Given the description of an element on the screen output the (x, y) to click on. 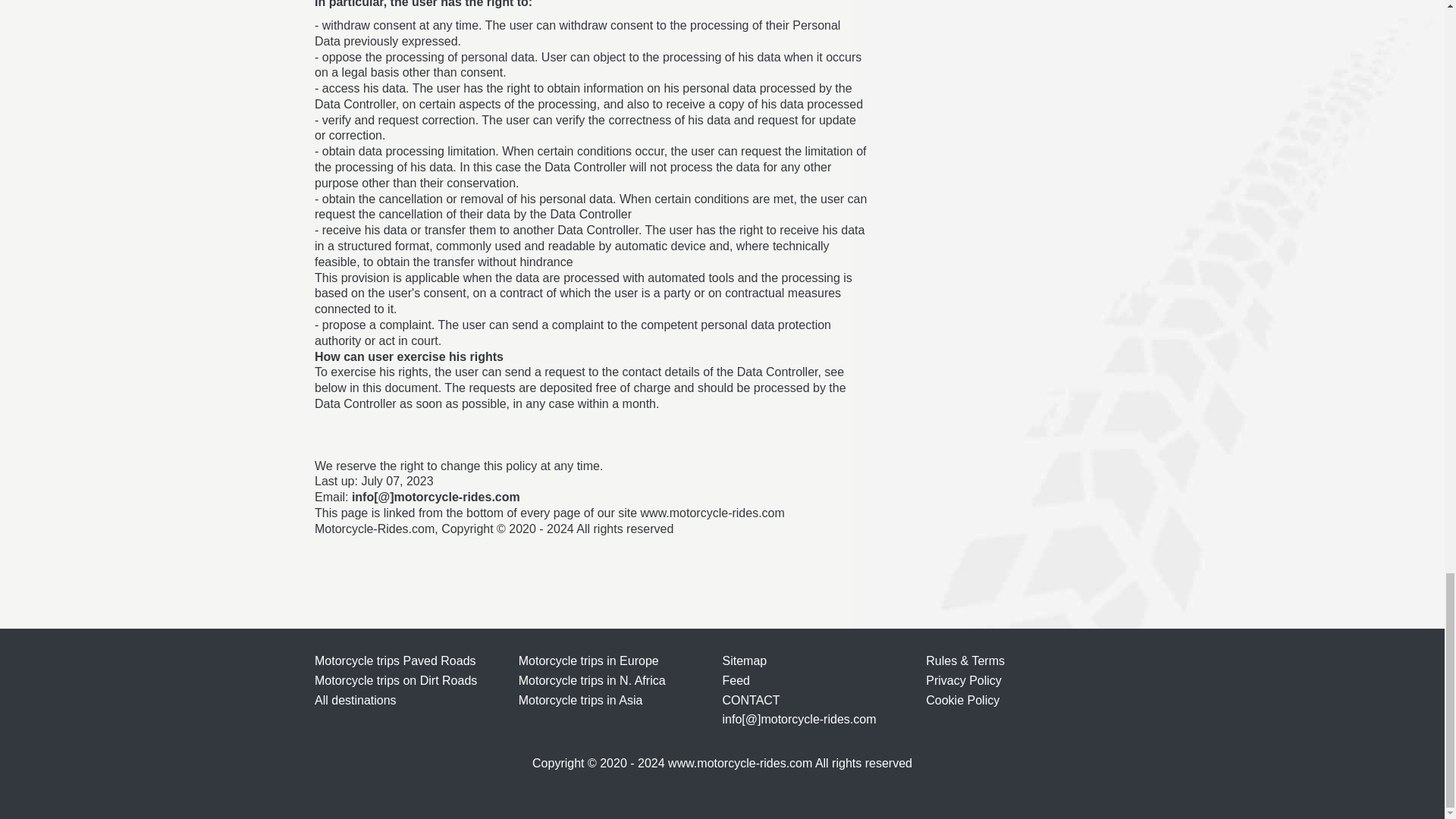
Motorcycle trips on Dirt Roads (395, 680)
Feed (735, 680)
Motorcycle trips in N. Africa (591, 680)
Motorcycle trips Paved Roads (395, 660)
Privacy Policy (963, 680)
Cookie Policy (962, 699)
Sitemap (744, 660)
Motorcycle trips in Asia (580, 699)
All destinations (355, 699)
Motorcycle trips in Europe (588, 660)
